Given the description of an element on the screen output the (x, y) to click on. 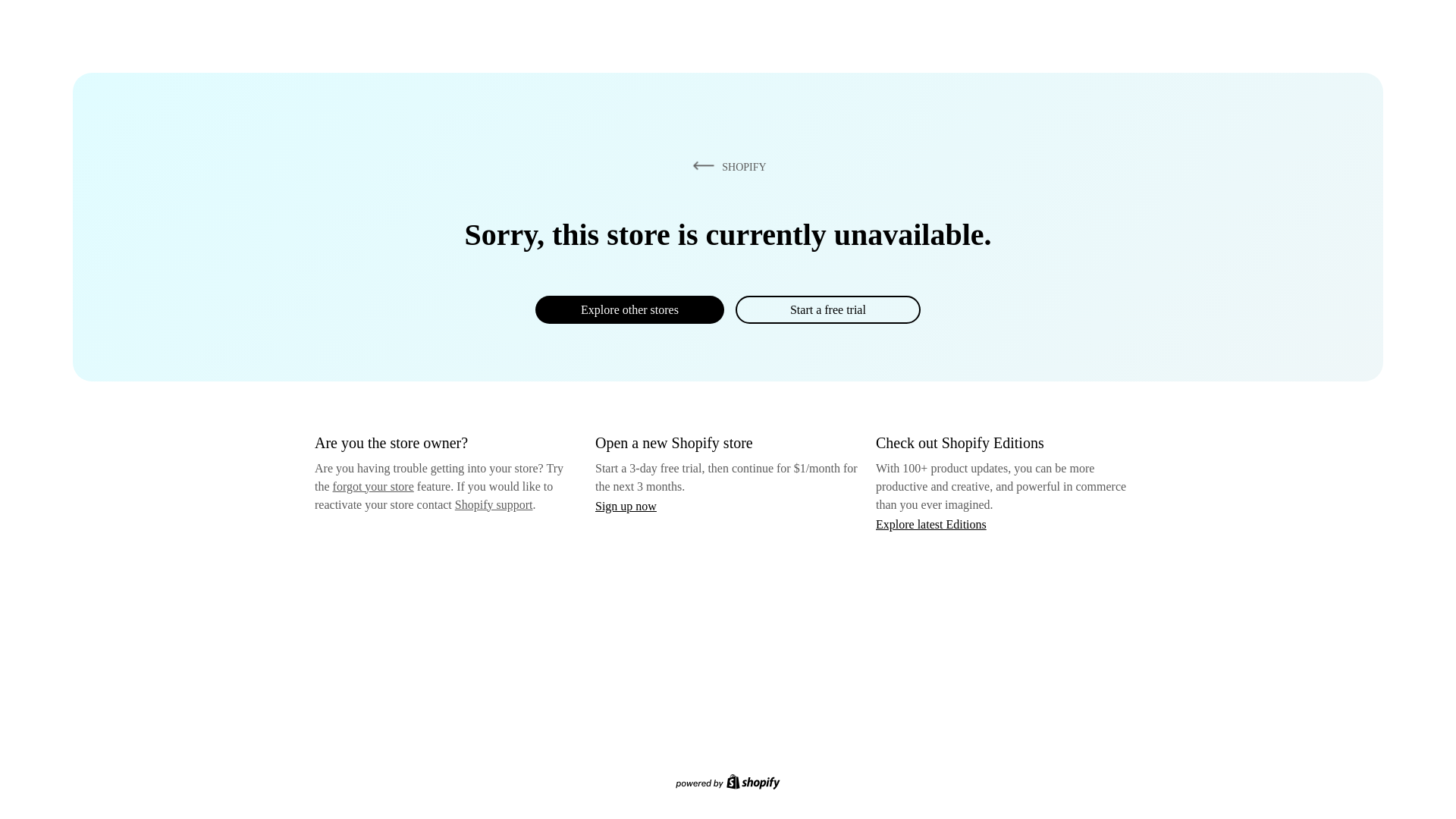
Sign up now (625, 505)
SHOPIFY (726, 166)
Shopify support (493, 504)
forgot your store (373, 486)
Explore latest Editions (931, 523)
Start a free trial (827, 309)
Explore other stores (629, 309)
